Given the description of an element on the screen output the (x, y) to click on. 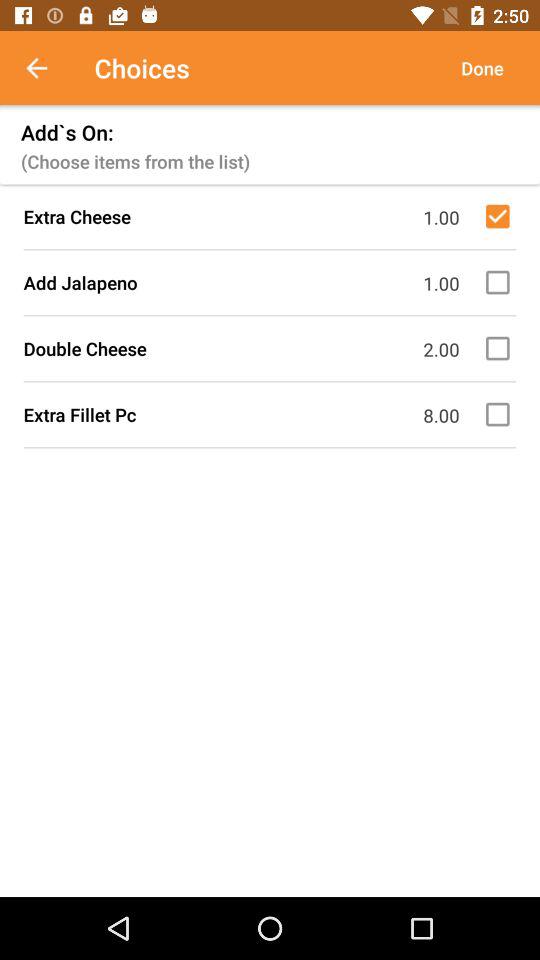
go back (47, 68)
